Given the description of an element on the screen output the (x, y) to click on. 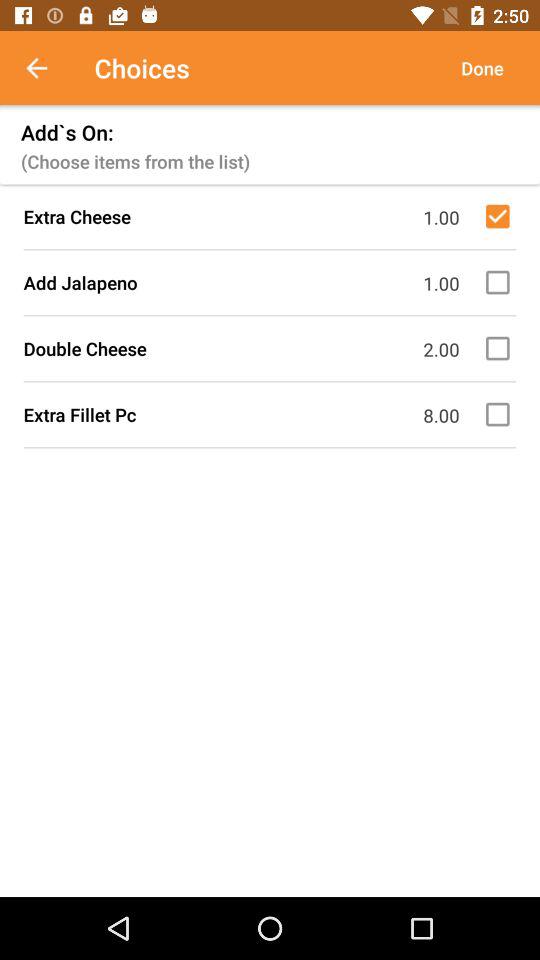
go back (47, 68)
